Given the description of an element on the screen output the (x, y) to click on. 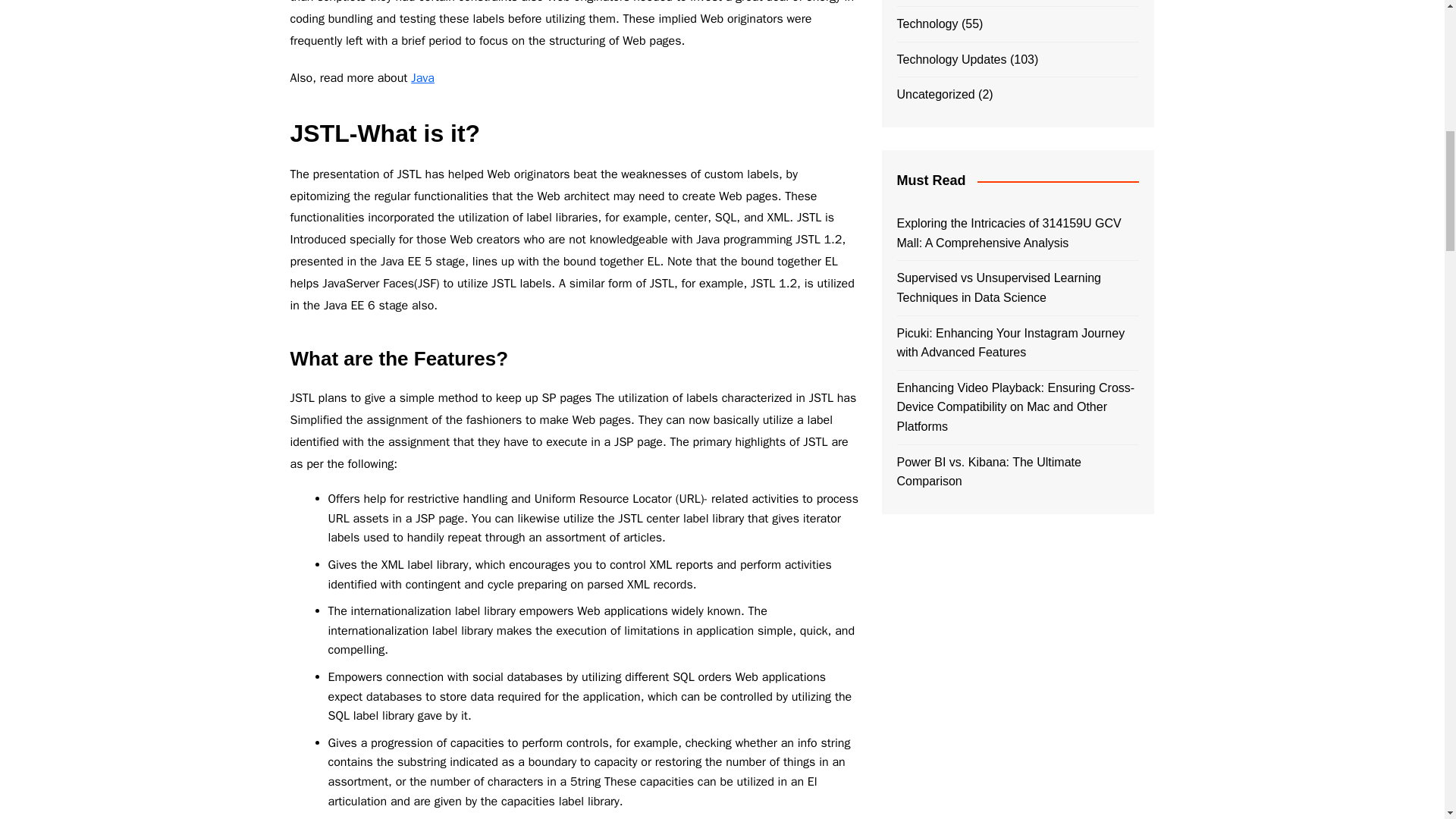
Java (421, 77)
